Given the description of an element on the screen output the (x, y) to click on. 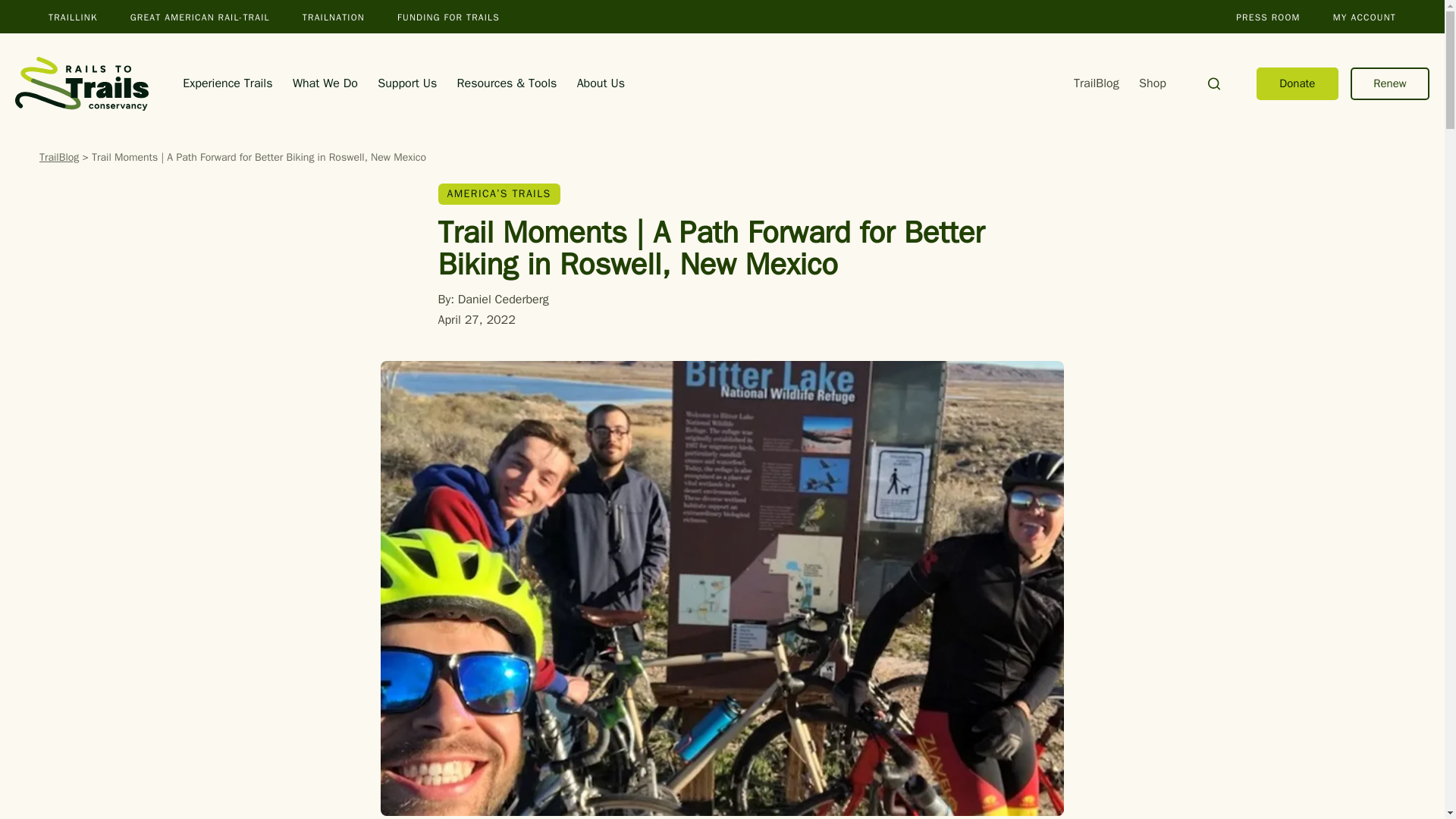
Experience Trails (227, 83)
Donate (1297, 83)
MY ACCOUNT (1364, 16)
FUNDING FOR TRAILS (448, 16)
Donate (1297, 83)
About Us (600, 83)
TrailBlog (1096, 83)
Renew (1390, 83)
Shop (1152, 83)
TRAILLINK (72, 16)
